Given the description of an element on the screen output the (x, y) to click on. 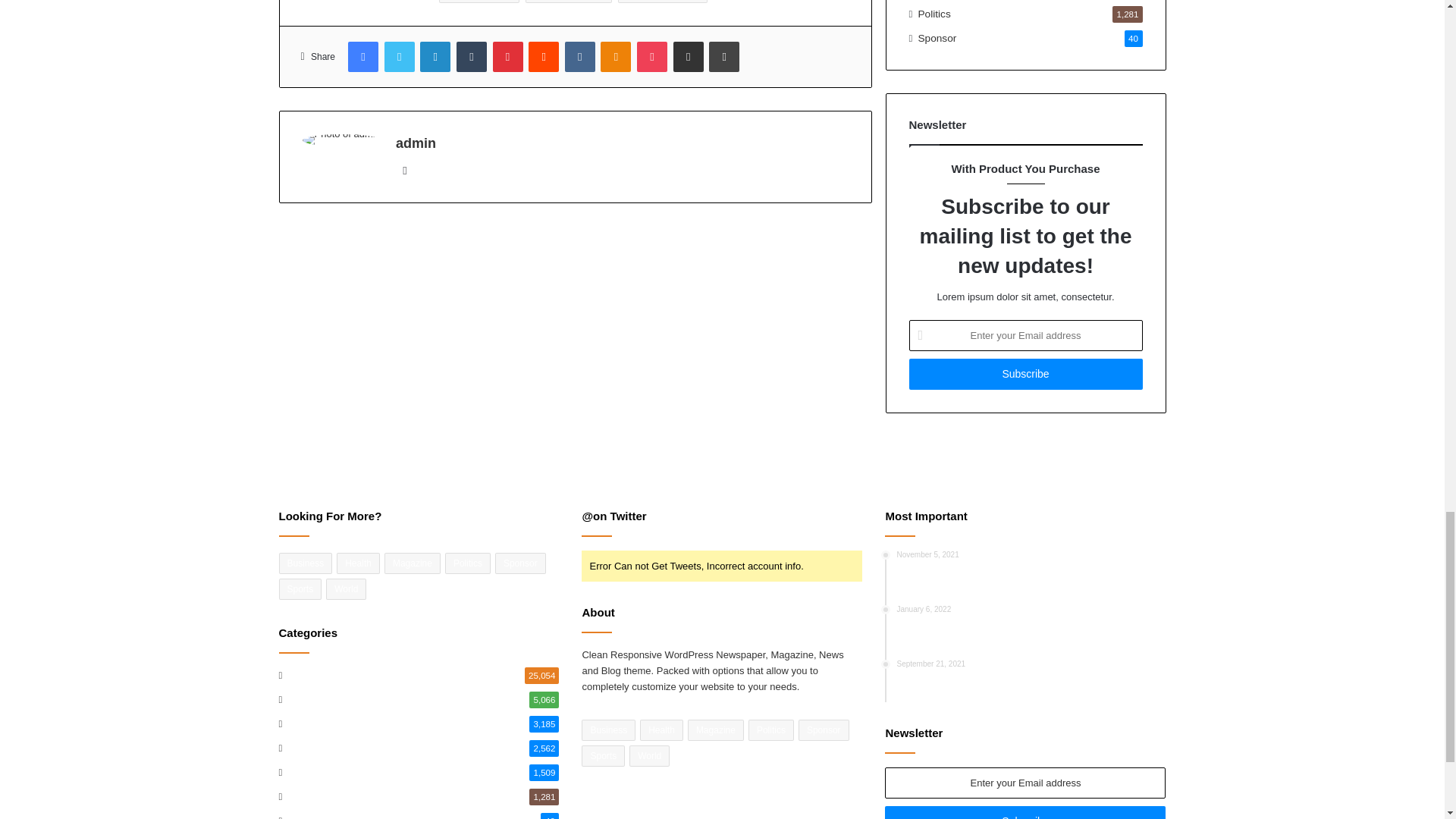
President (568, 1)
Roosevelt (661, 1)
Museum (479, 1)
Subscribe (1025, 812)
Subscribe (1025, 373)
